Given the description of an element on the screen output the (x, y) to click on. 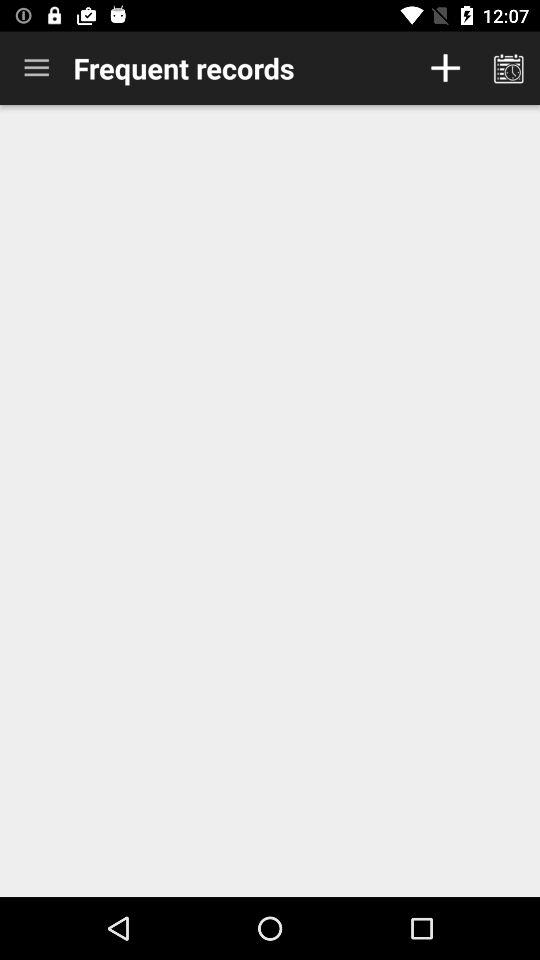
press icon at the top left corner (36, 68)
